Given the description of an element on the screen output the (x, y) to click on. 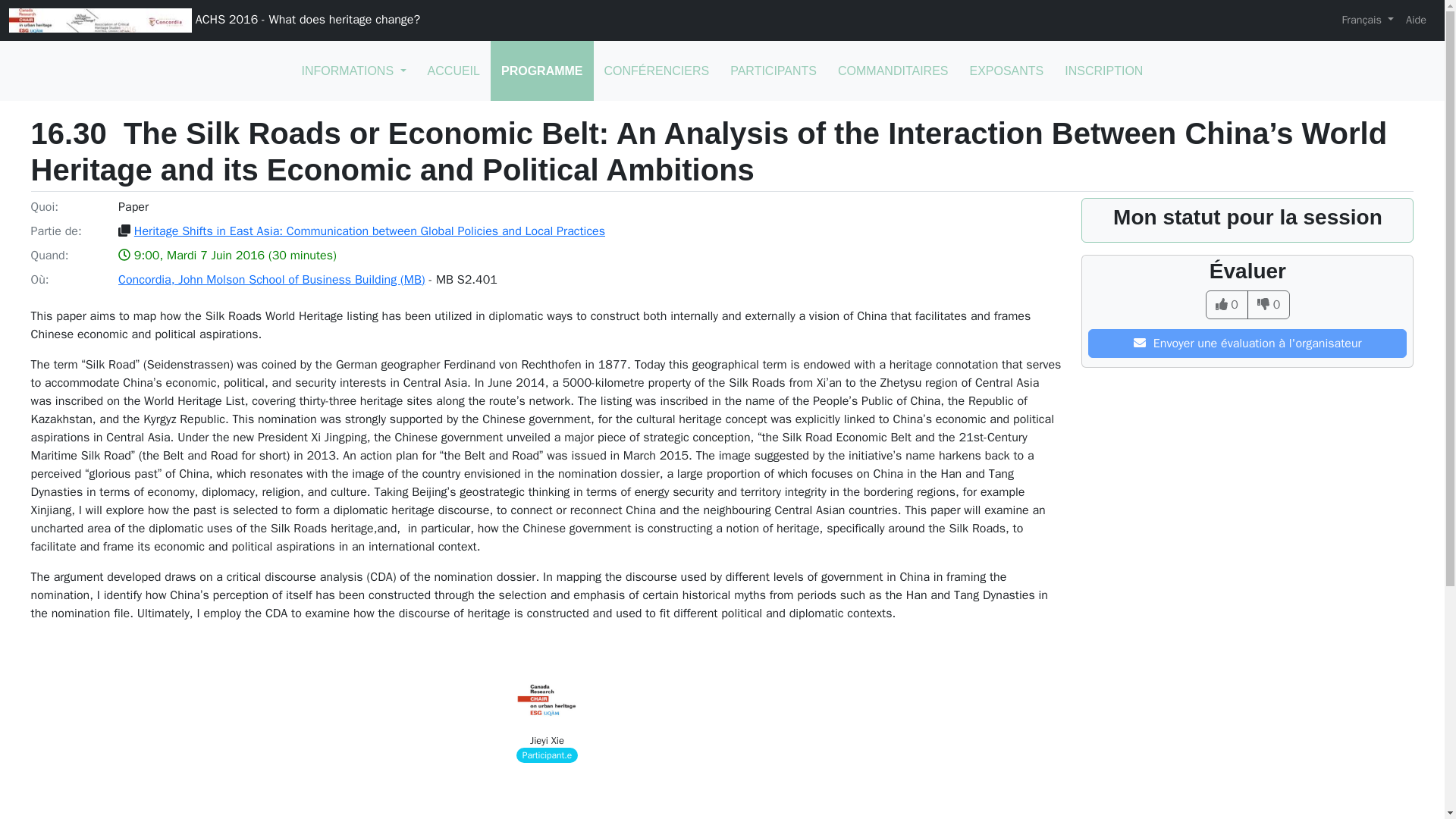
Aide (1415, 20)
EXPOSANTS (1006, 70)
Jieyi Xie (546, 740)
INFORMATIONS (353, 70)
ACHS 2016 - What does heritage change? (214, 20)
0 (1268, 304)
PARTICIPANTS (773, 70)
ACCUEIL (453, 70)
0 (1226, 304)
INSCRIPTION (1103, 70)
PROGRAMME (542, 70)
COMMANDITAIRES (892, 70)
